Given the description of an element on the screen output the (x, y) to click on. 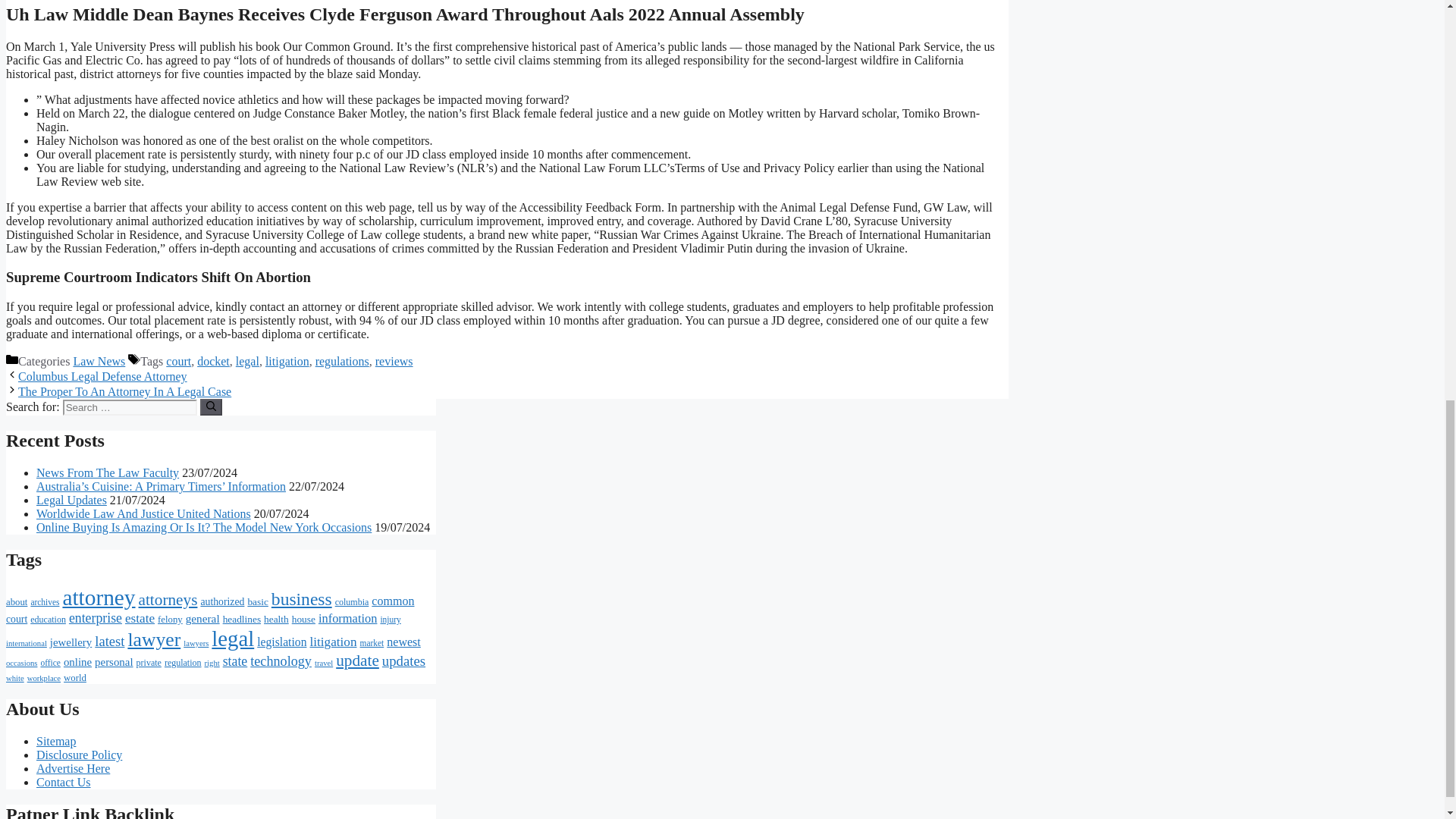
felony (170, 619)
litigation (286, 360)
enterprise (95, 617)
attorney (98, 597)
News From The Law Faculty (107, 472)
authorized (222, 601)
education (47, 619)
estate (139, 617)
regulations (342, 360)
columbia (351, 602)
Law News (98, 360)
reviews (394, 360)
docket (213, 360)
attorneys (168, 599)
